Given the description of an element on the screen output the (x, y) to click on. 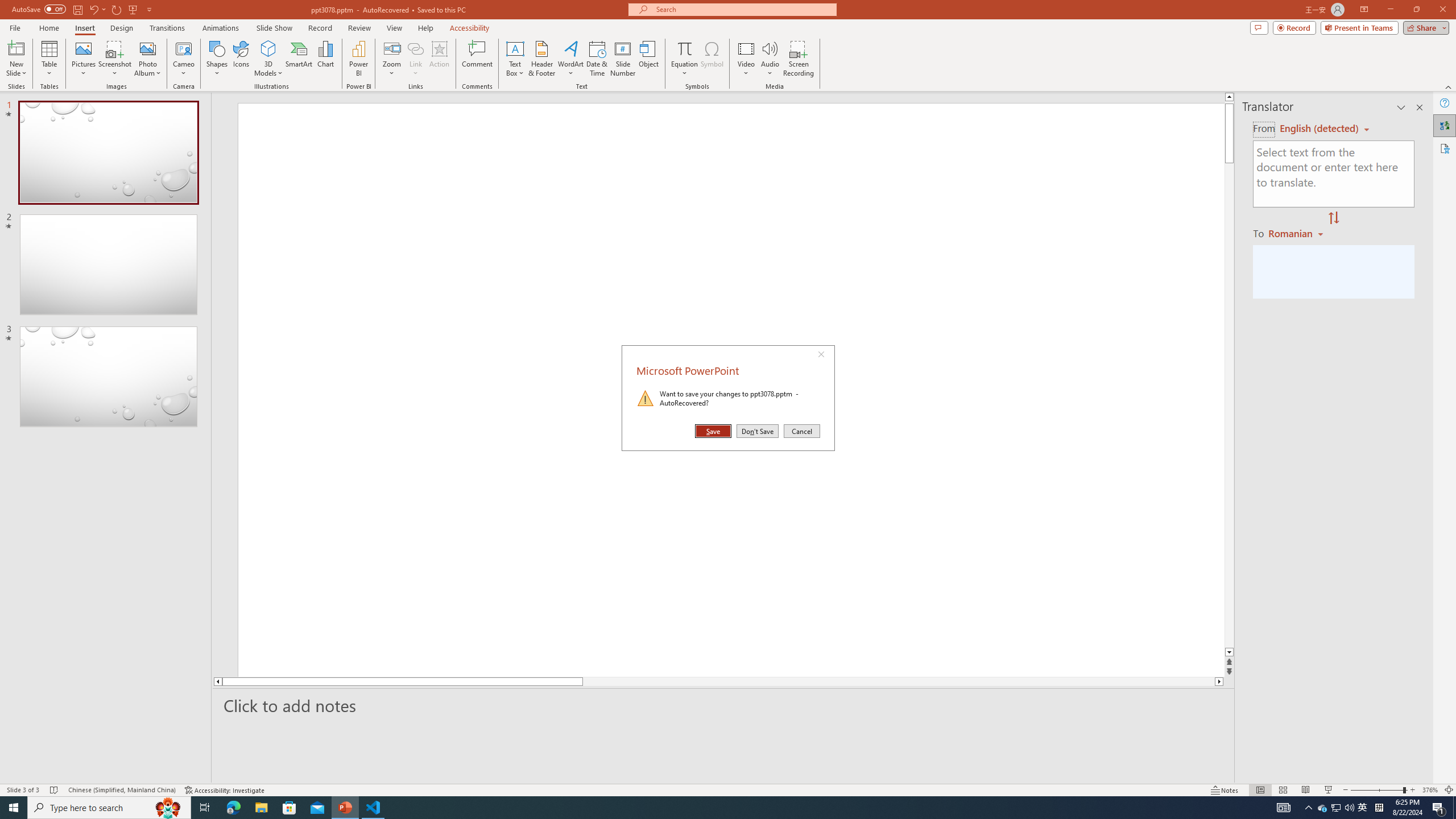
Power BI (358, 58)
3D Models (268, 58)
Swap "from" and "to" languages. (1333, 218)
Screen Recording... (798, 58)
